Given the description of an element on the screen output the (x, y) to click on. 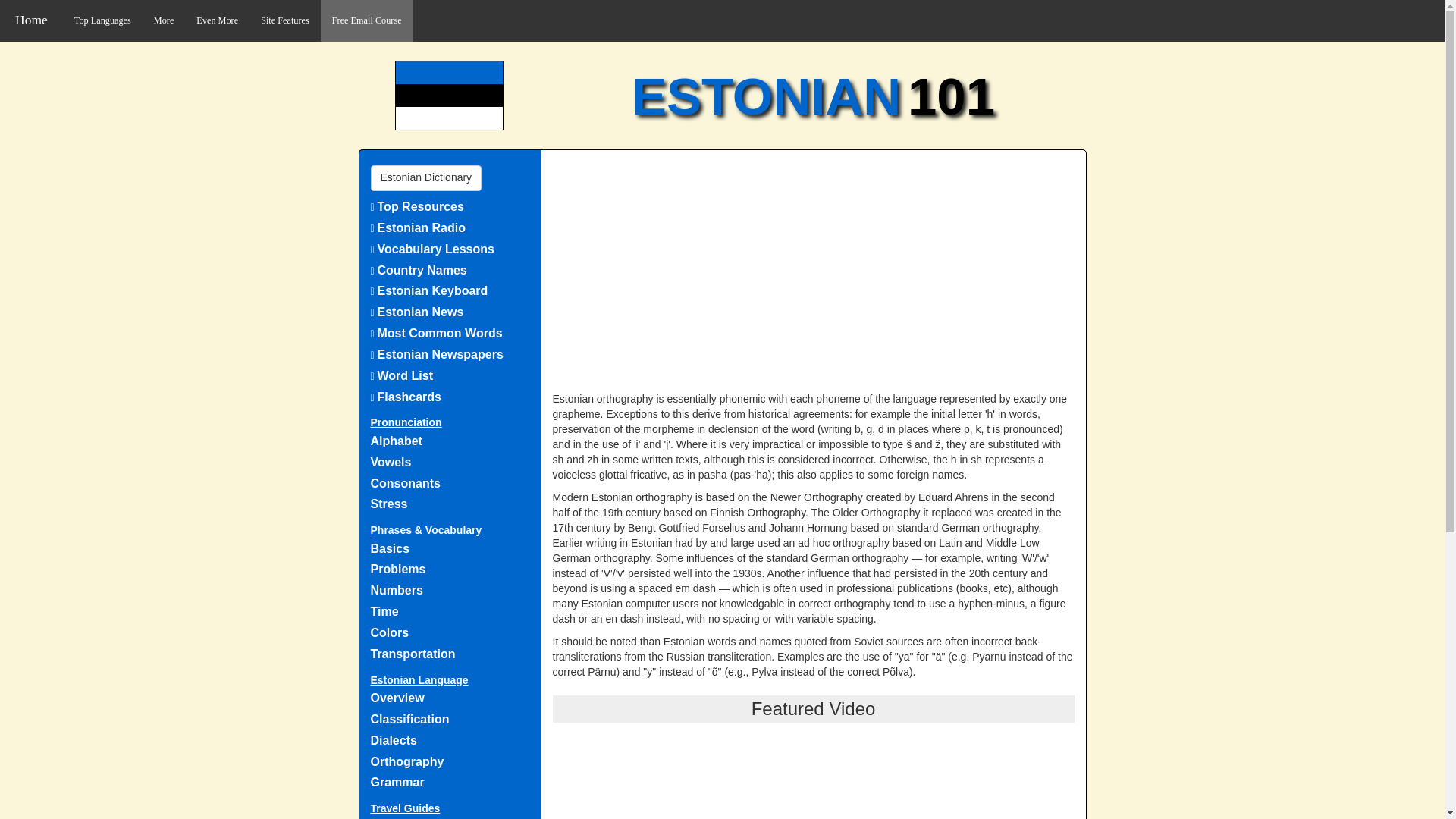
Top Languages (102, 20)
Home (31, 19)
